Given the description of an element on the screen output the (x, y) to click on. 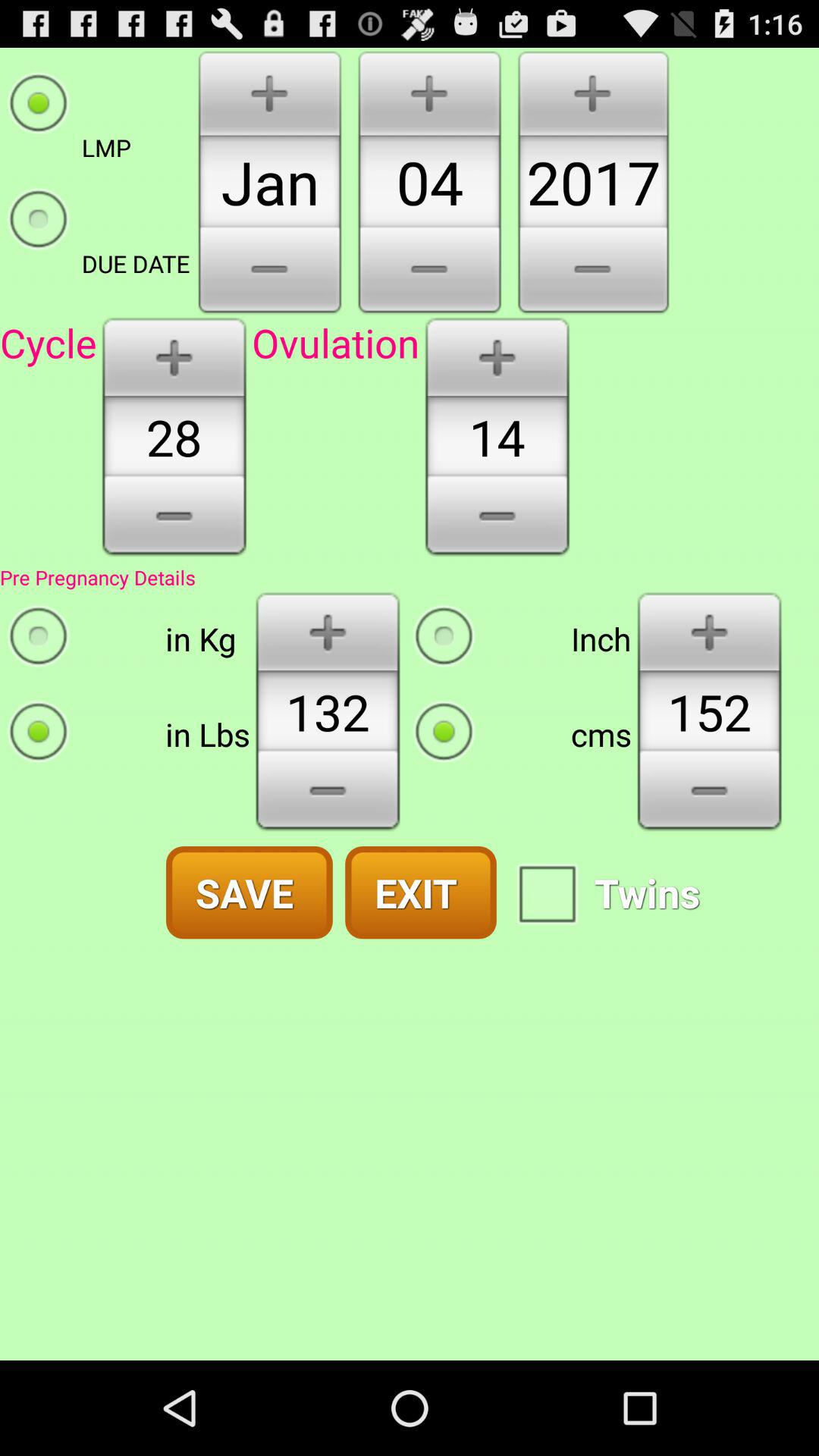
increase kg 's (327, 630)
